Given the description of an element on the screen output the (x, y) to click on. 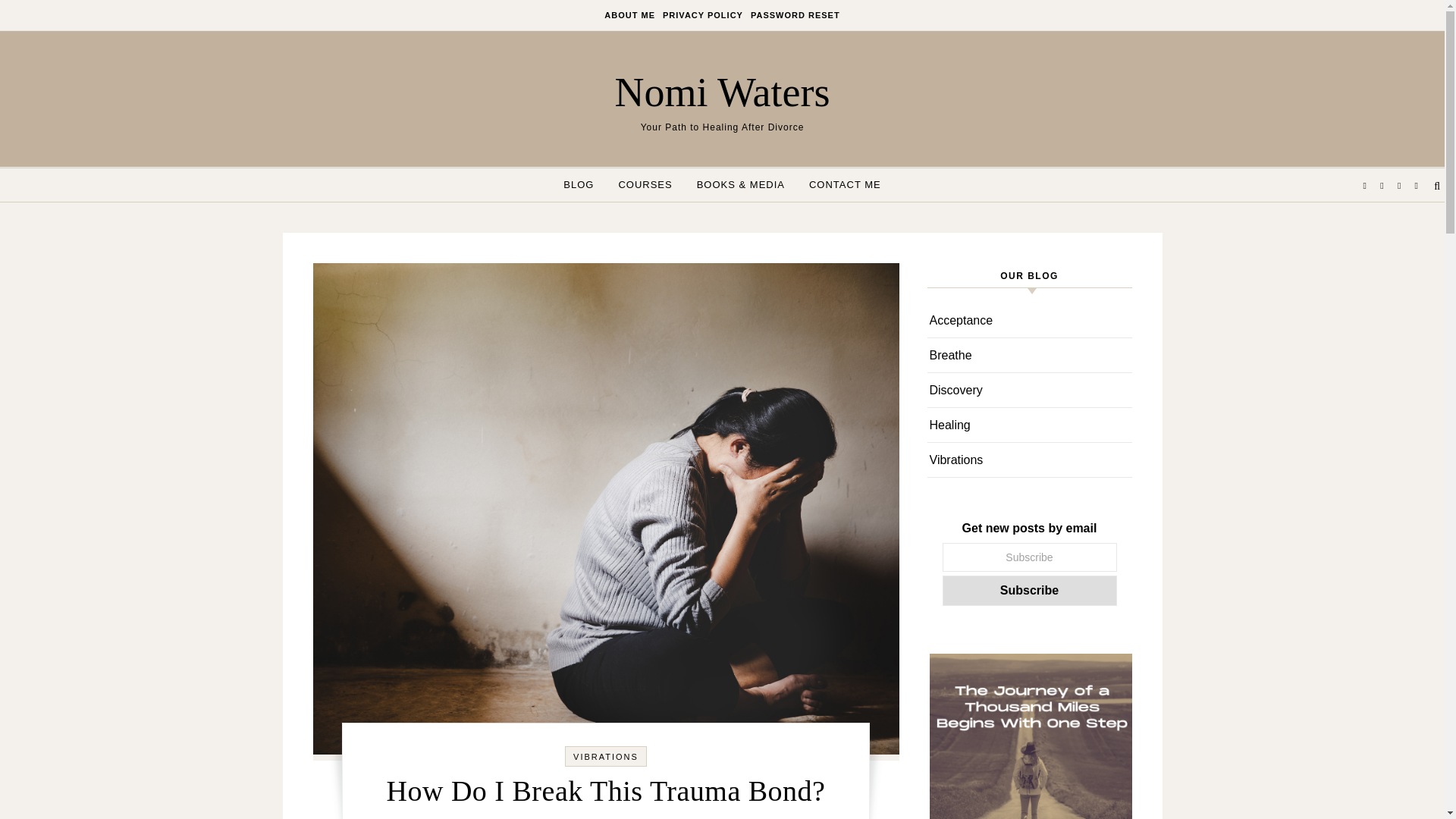
PASSWORD RESET (793, 15)
CONTACT ME (838, 184)
BLOG (584, 184)
Discovery (956, 390)
PRIVACY POLICY (702, 15)
Nomi Waters (721, 91)
COURSES (644, 184)
Breathe (951, 355)
Subscribe (1029, 590)
ABOUT ME (631, 15)
Acceptance (961, 320)
VIBRATIONS (606, 756)
